Given the description of an element on the screen output the (x, y) to click on. 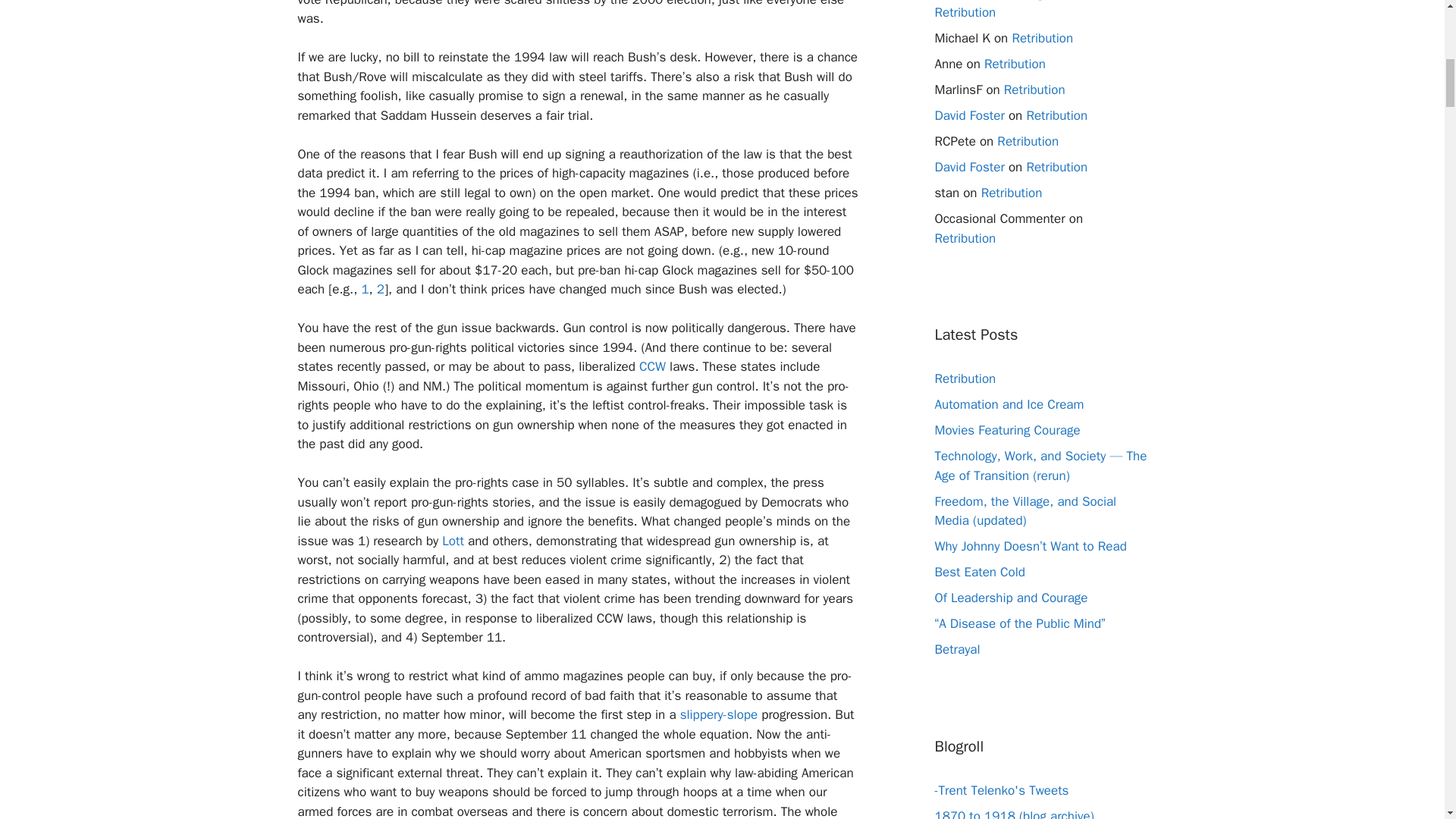
Lott (453, 540)
Scroll back to top (1406, 720)
slippery-slope (718, 714)
CCW (652, 366)
1 (364, 289)
2 (380, 289)
